Given the description of an element on the screen output the (x, y) to click on. 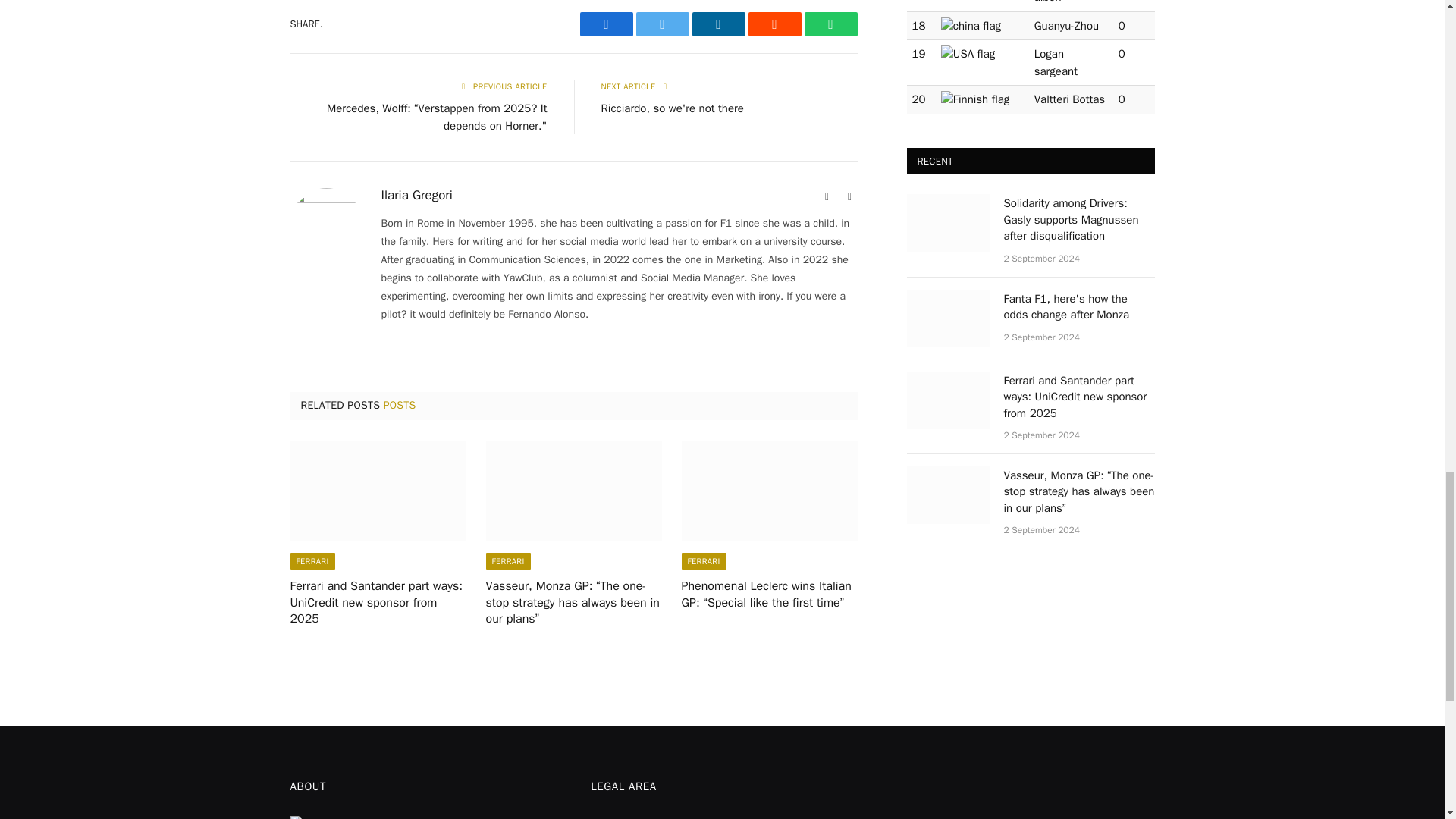
Share on LinkedIn (717, 24)
Share on Reddit (774, 24)
Share on Facebook (605, 24)
